Given the description of an element on the screen output the (x, y) to click on. 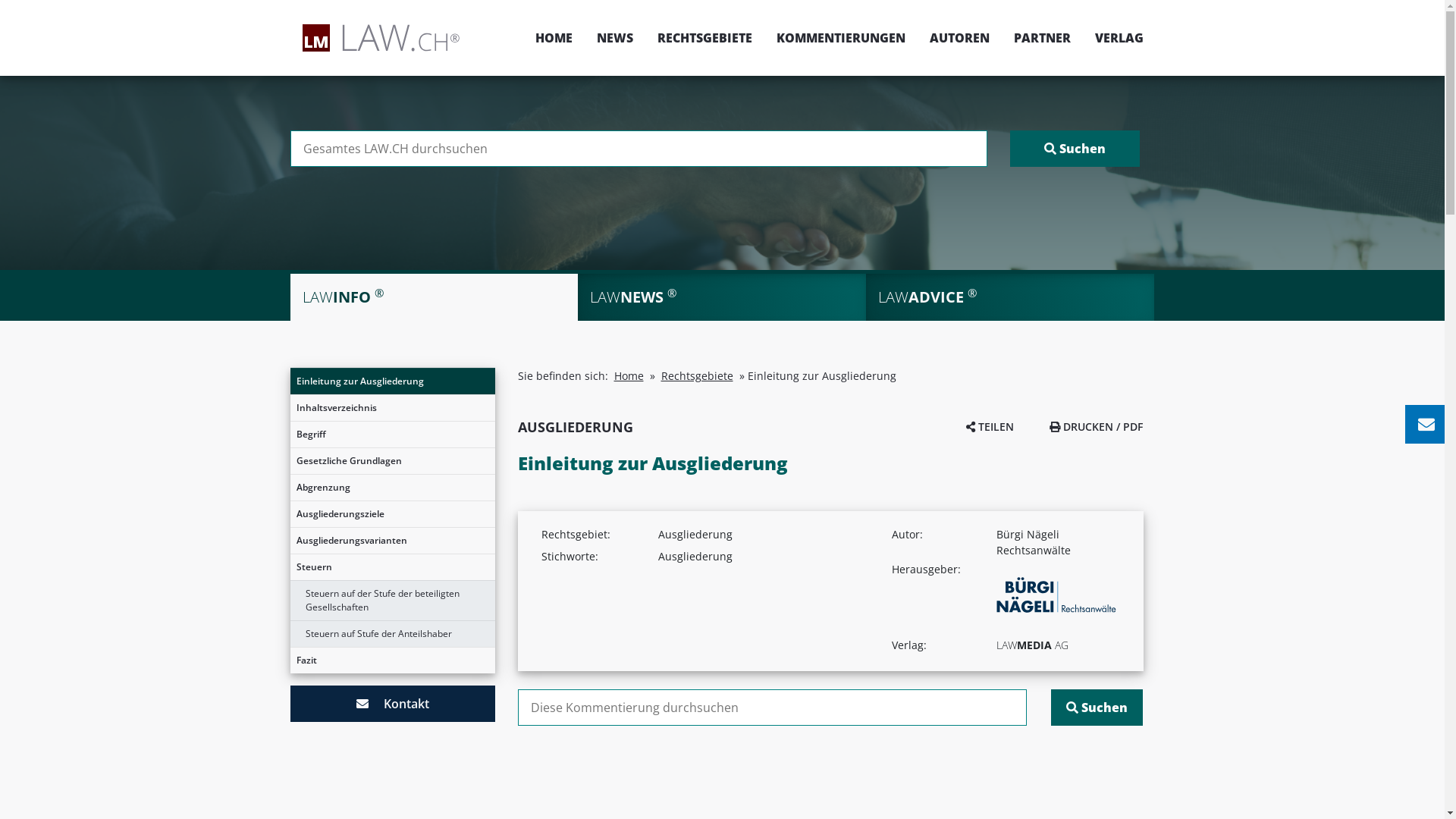
Steuern auf Stufe der Anteilshaber Element type: text (391, 633)
Begriff Element type: text (391, 434)
Einleitung zur Ausgliederung Element type: text (391, 381)
    Kontakt Element type: text (391, 703)
Suchen nach: Element type: hover (637, 148)
Steuern Element type: text (391, 567)
Abgrenzung Element type: text (391, 487)
Inhaltsverzeichnis Element type: text (391, 407)
PARTNER Element type: text (1041, 37)
Home Element type: text (628, 375)
Ausgliederungsvarianten Element type: text (391, 540)
Rechtsgebiete Element type: text (697, 375)
Fazit Element type: text (391, 660)
Suchen nach: Element type: hover (771, 707)
Gesetzliche Grundlagen Element type: text (391, 460)
KOMMENTIERUNGEN Element type: text (840, 37)
RECHTSGEBIETE Element type: text (703, 37)
HOME Element type: text (553, 37)
NEWS Element type: text (613, 37)
 DRUCKEN / PDF Element type: text (1095, 426)
AUTOREN Element type: text (959, 37)
Steuern auf der Stufe der beteiligten Gesellschaften Element type: text (391, 600)
 TEILEN Element type: text (989, 426)
VERLAG Element type: text (1112, 37)
Ausgliederungsziele Element type: text (391, 514)
